Given the description of an element on the screen output the (x, y) to click on. 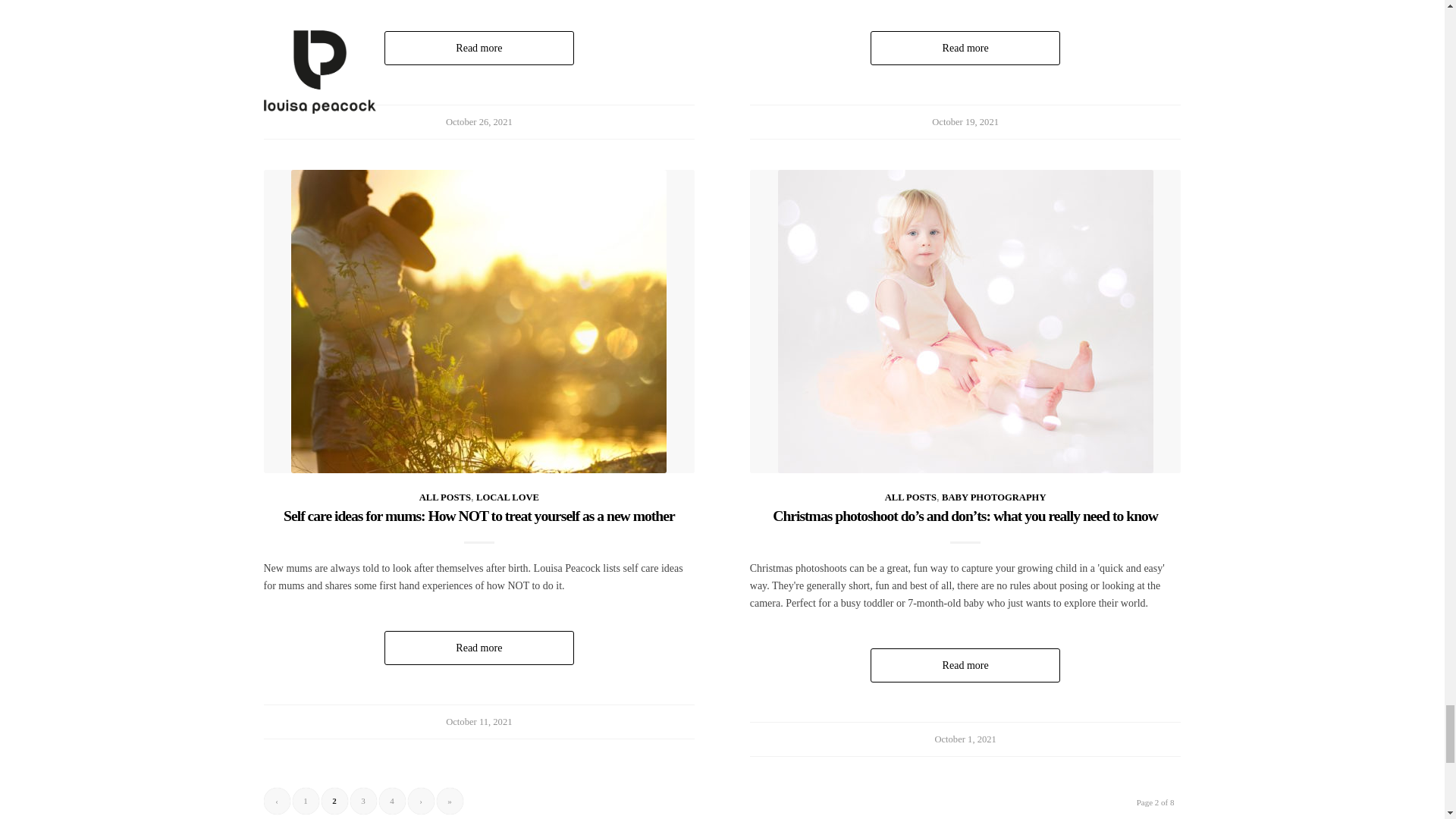
ALL POSTS (444, 497)
Read more (964, 48)
LOCAL LOVE (507, 497)
Read more (478, 48)
